Given the description of an element on the screen output the (x, y) to click on. 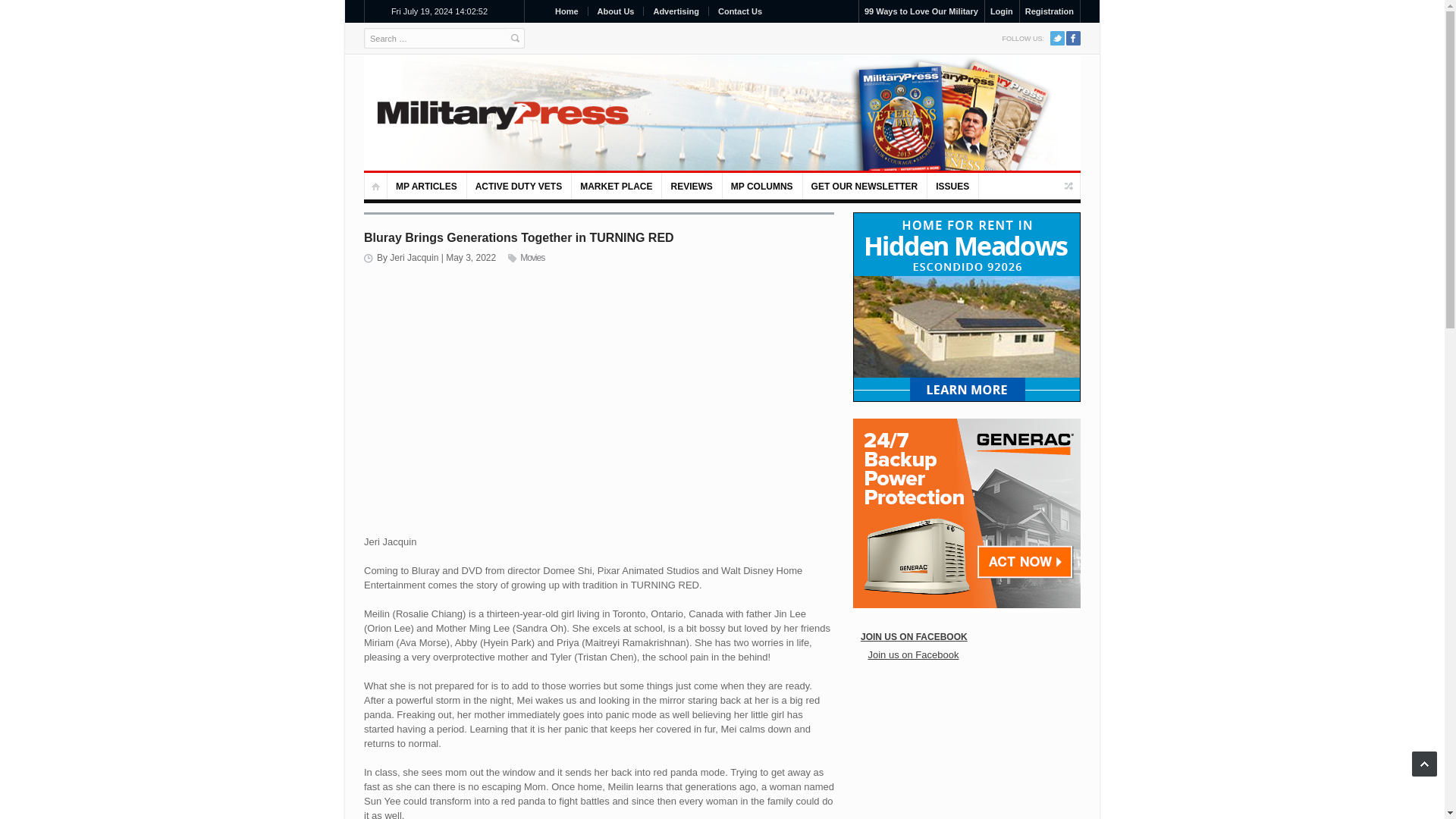
MP COLUMNS (762, 185)
Login (1001, 10)
Facebook (1072, 38)
Registration (1049, 10)
Contact Us (739, 10)
99 Ways to Love Our Military (921, 10)
ACTIVE DUTY VETS (519, 185)
Home (566, 10)
About Us (615, 10)
MP ARTICLES (427, 185)
REVIEWS (692, 185)
Military Press (496, 112)
Twitter (1056, 38)
Advertising (675, 10)
MARKET PLACE (617, 185)
